Given the description of an element on the screen output the (x, y) to click on. 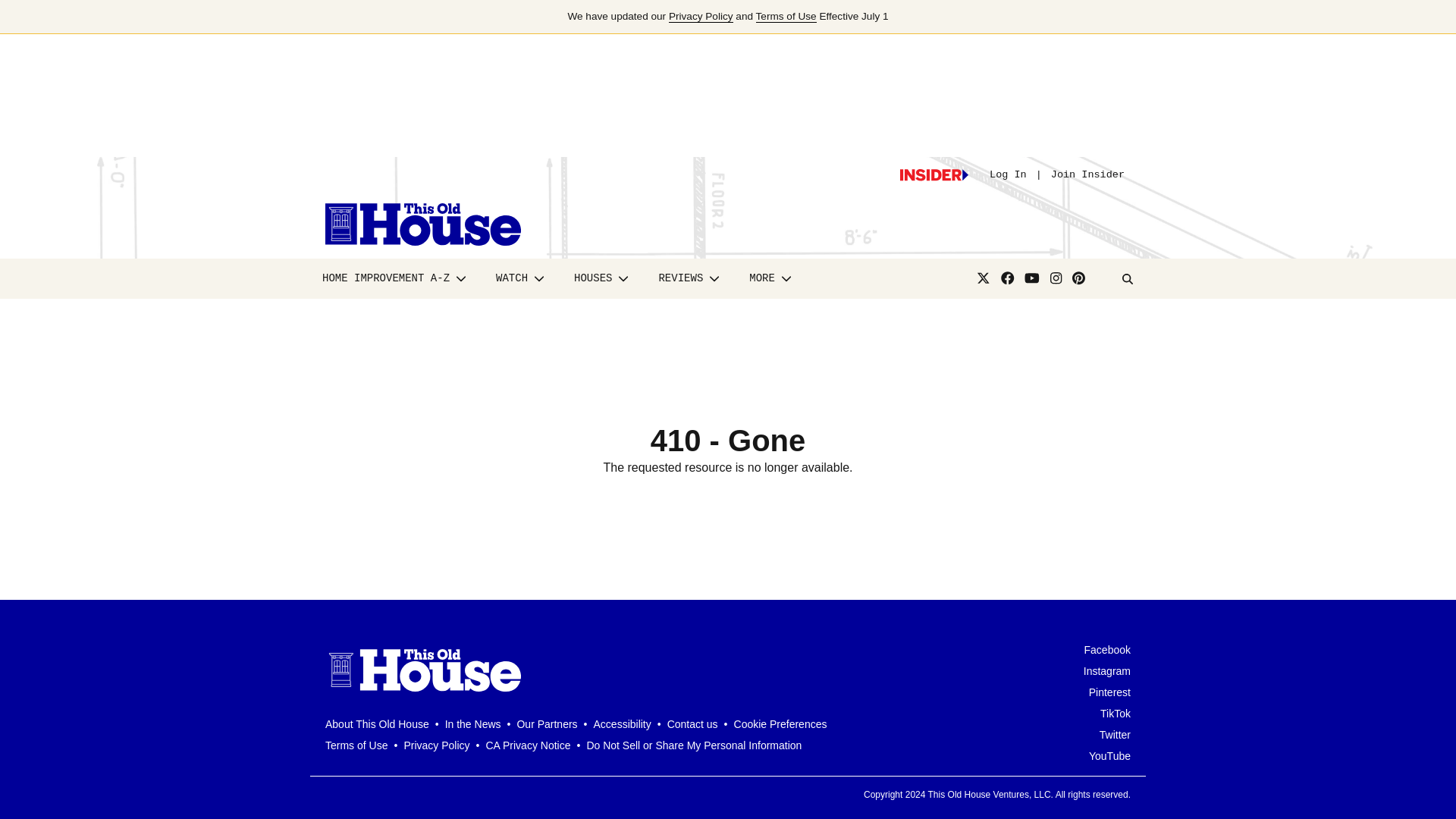
Join Insider (1087, 174)
Terms of Use (785, 16)
Log in or sign up (933, 174)
Privacy Policy (700, 16)
Log In (1008, 174)
